Given the description of an element on the screen output the (x, y) to click on. 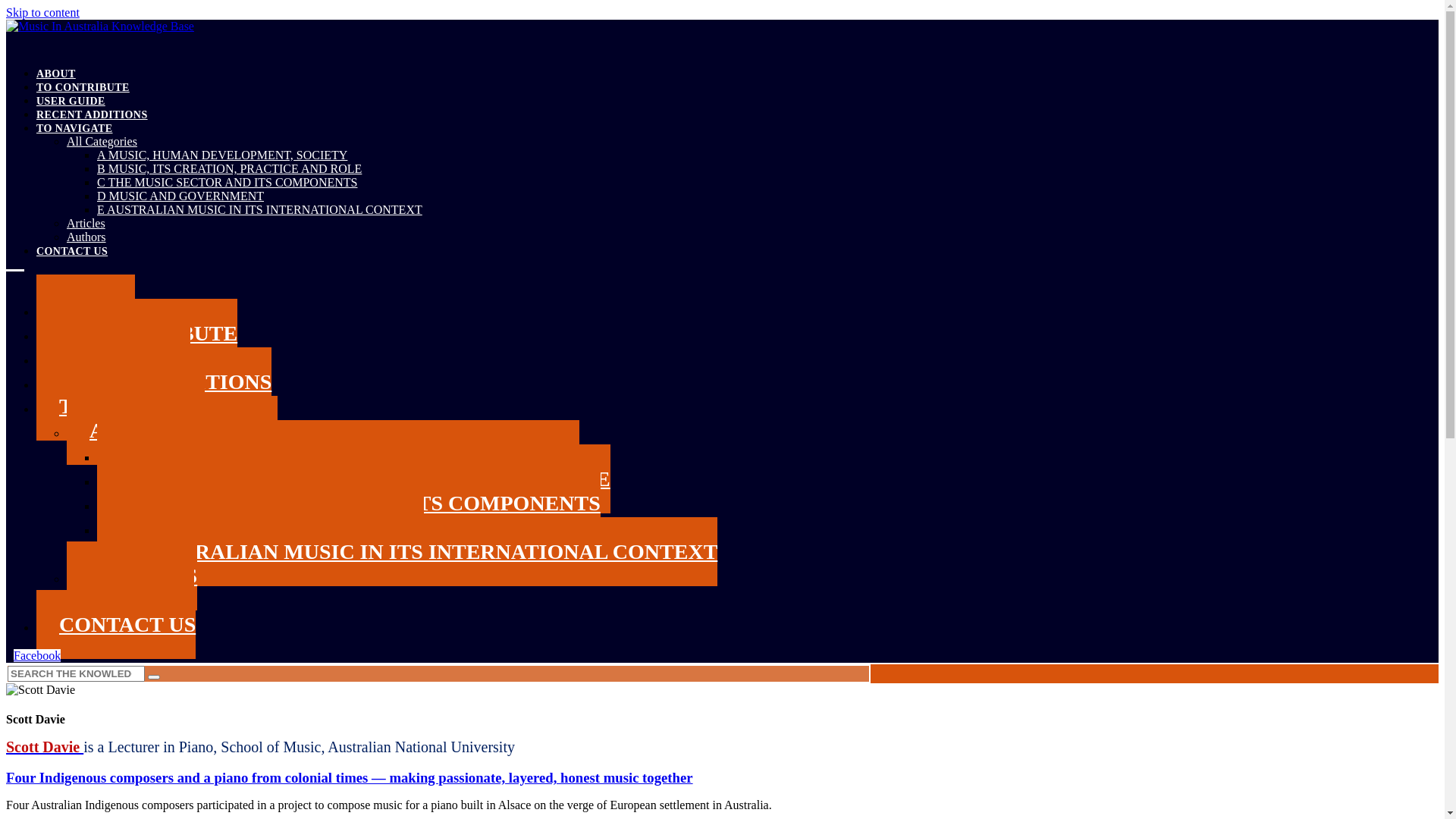
D MUSIC AND GOVERNMENT Element type: text (180, 195)
D MUSIC AND GOVERNMENT Element type: text (260, 526)
USER GUIDE Element type: text (113, 357)
A MUSIC, HUMAN DEVELOPMENT, SOCIETY Element type: text (222, 154)
CONTACT US Element type: text (71, 251)
USER GUIDE Element type: text (70, 101)
All Categories Element type: text (101, 140)
B MUSIC, ITS CREATION, PRACTICE AND ROLE Element type: text (229, 168)
A MUSIC, HUMAN DEVELOPMENT, SOCIETY Element type: text (338, 454)
TO NAVIGATE Element type: text (74, 129)
TO CONTRIBUTE Element type: text (136, 332)
ALL CATEGORIES Element type: text (171, 429)
AUTHORS Element type: text (130, 599)
TO NAVIGATE Element type: text (120, 405)
E AUSTRALIAN MUSIC IN ITS INTERNATIONAL CONTEXT Element type: text (407, 551)
RECENT ADDITIONS Element type: text (153, 381)
RECENT ADDITIONS Element type: text (91, 115)
Skip to content Element type: text (42, 12)
Facebook Element type: text (36, 655)
CONTACT US Element type: text (115, 623)
Scott Davie  Element type: text (44, 746)
Authors Element type: text (86, 236)
C THE MUSIC SECTOR AND ITS COMPONENTS Element type: text (348, 502)
B MUSIC, ITS CREATION, PRACTICE AND ROLE Element type: text (353, 478)
ABOUT Element type: text (85, 308)
C THE MUSIC SECTOR AND ITS COMPONENTS Element type: text (227, 181)
ABOUT Element type: text (55, 74)
Articles Element type: text (85, 222)
TO CONTRIBUTE Element type: text (82, 88)
ARTICLES Element type: text (131, 575)
E AUSTRALIAN MUSIC IN ITS INTERNATIONAL CONTEXT Element type: text (259, 209)
